Given the description of an element on the screen output the (x, y) to click on. 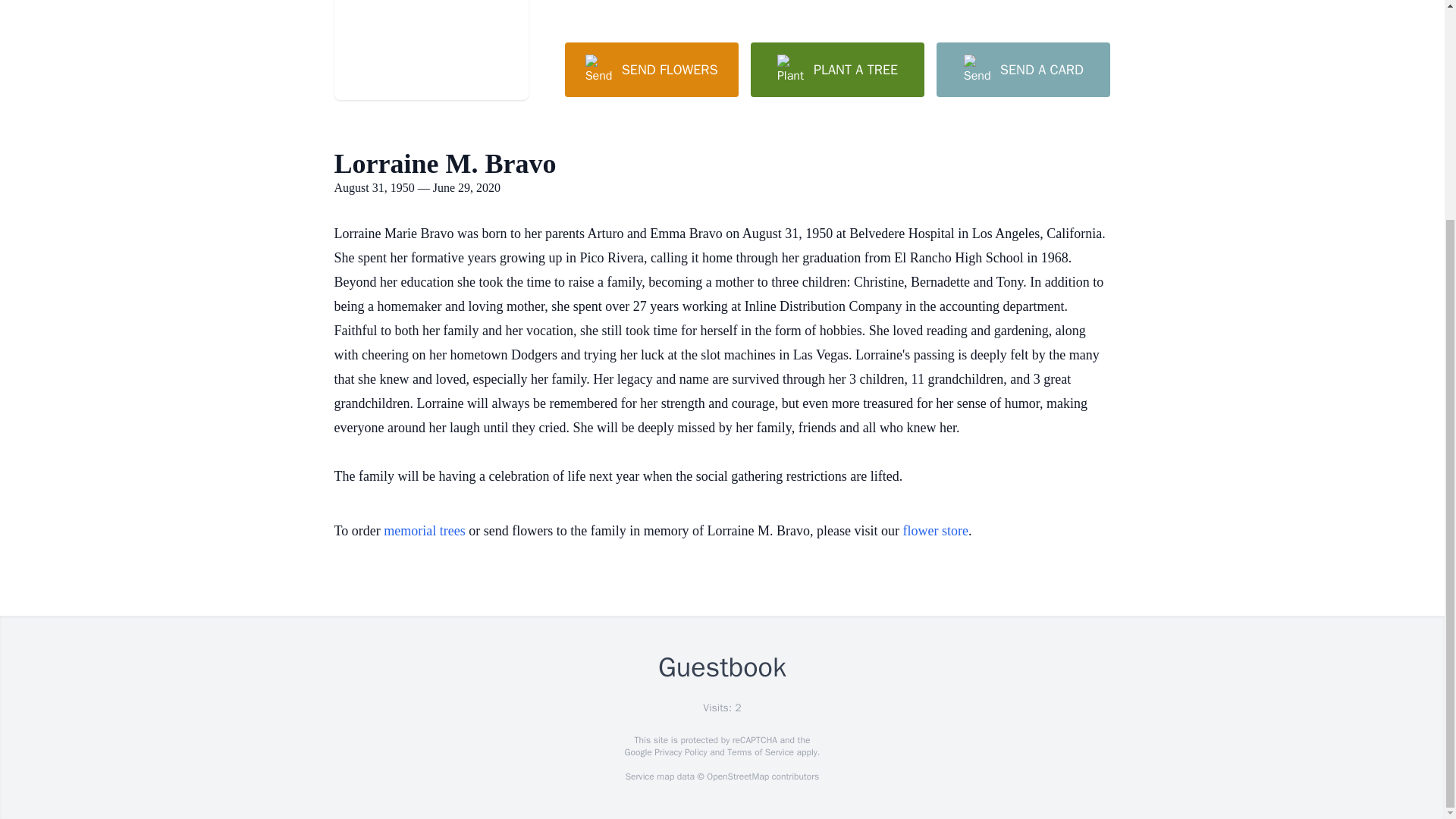
Privacy Policy (679, 752)
OpenStreetMap (737, 776)
PLANT A TREE (837, 69)
SEND A CARD (1022, 69)
Terms of Service (759, 752)
SEND FLOWERS (651, 69)
flower store (935, 530)
memorial trees (424, 530)
